Given the description of an element on the screen output the (x, y) to click on. 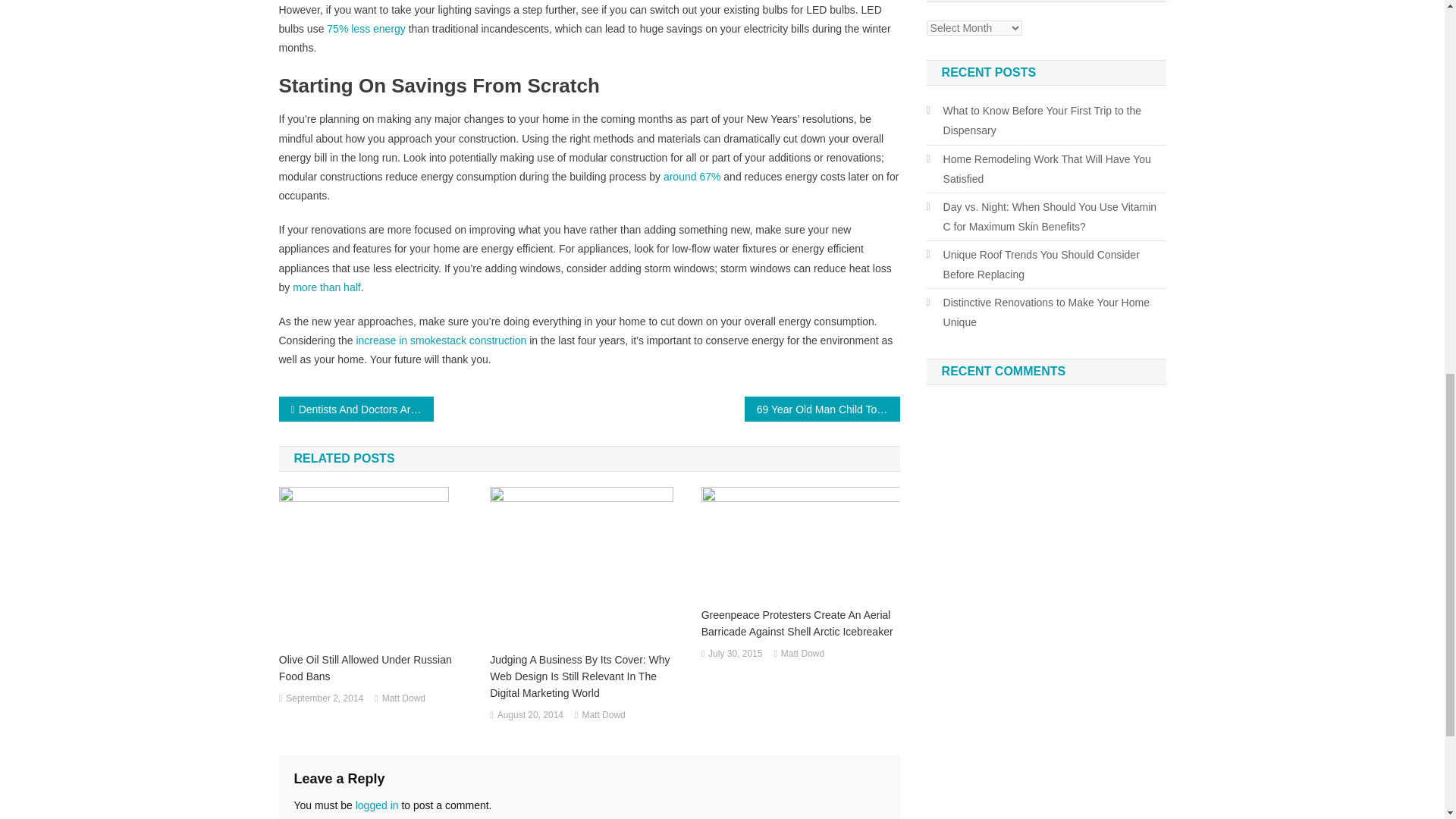
more than half (326, 287)
August 20, 2014 (530, 715)
Matt Dowd (602, 715)
September 2, 2014 (323, 699)
Olive Oil Still Allowed Under Russian Food Bans (378, 667)
Matt Dowd (403, 699)
increase in smokestack construction (440, 340)
